Given the description of an element on the screen output the (x, y) to click on. 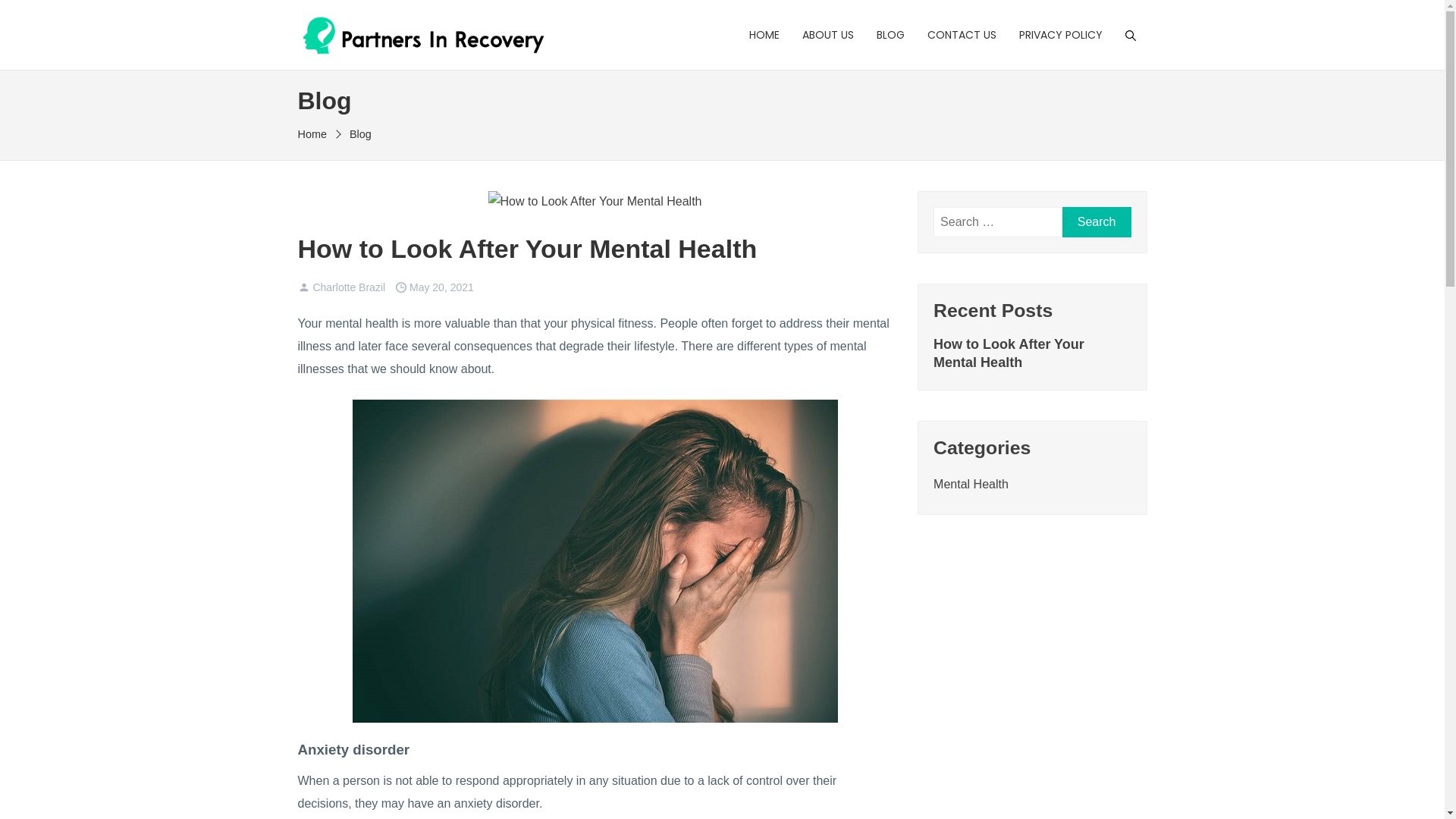
BLOG Element type: text (889, 35)
Mental Health Element type: text (970, 483)
Search Element type: text (1096, 222)
HOME Element type: text (769, 35)
Home Element type: text (317, 134)
physical fitness Element type: text (612, 322)
CONTACT US Element type: text (961, 35)
How to Look After Your Mental Health Element type: text (526, 249)
Search Element type: text (34, 15)
How to Look After Your Mental Health Element type: text (1031, 353)
ABOUT US Element type: text (827, 35)
PRIVACY POLICY Element type: text (1060, 35)
